Given the description of an element on the screen output the (x, y) to click on. 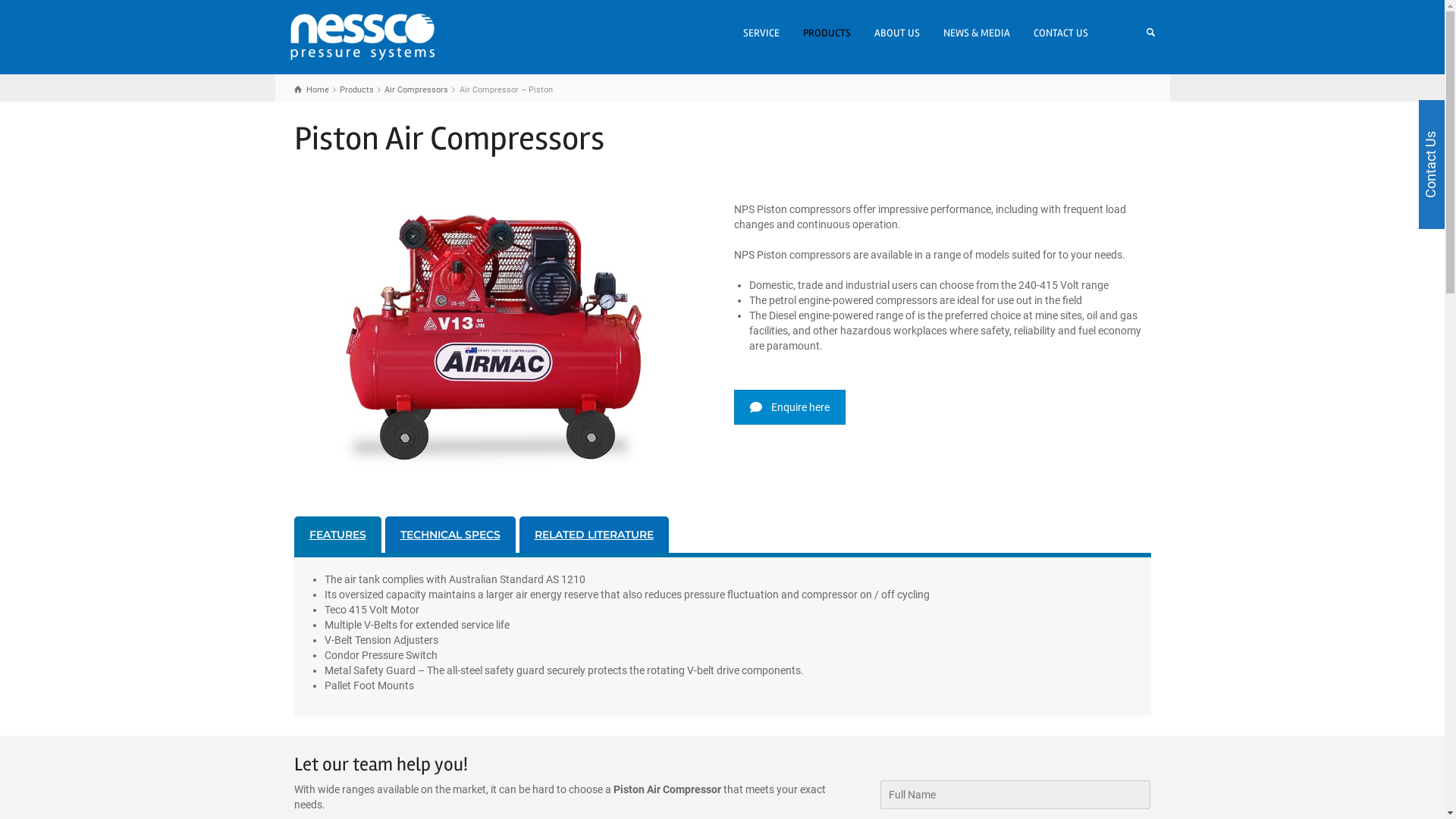
Enquire here Element type: text (789, 406)
SERVICE Element type: text (761, 33)
NEWS & MEDIA Element type: text (976, 33)
ABOUT US Element type: text (896, 33)
FEATURES Element type: text (337, 534)
AM V13 240V-C Element type: hover (502, 337)
Products Element type: text (356, 89)
TECHNICAL SPECS Element type: text (450, 534)
RELATED LITERATURE Element type: text (593, 534)
Air Compressors Element type: text (416, 89)
PRODUCTS Element type: text (826, 33)
Nessco Pressure Systems Element type: hover (361, 36)
Search Element type: hover (1135, 33)
Home Element type: text (311, 89)
CONTACT US Element type: text (1061, 33)
